Given the description of an element on the screen output the (x, y) to click on. 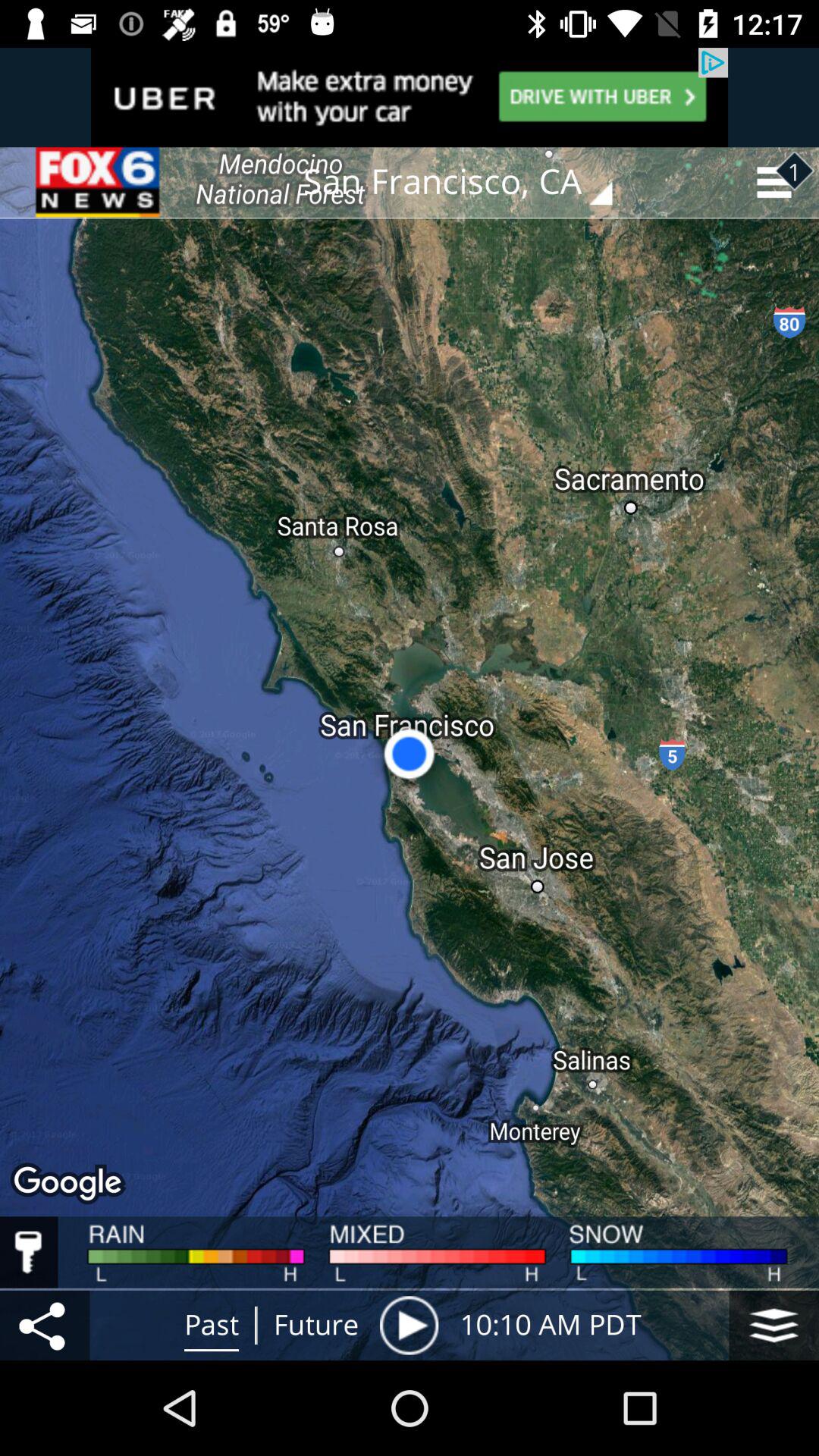
tap icon at the top left corner (99, 182)
